Given the description of an element on the screen output the (x, y) to click on. 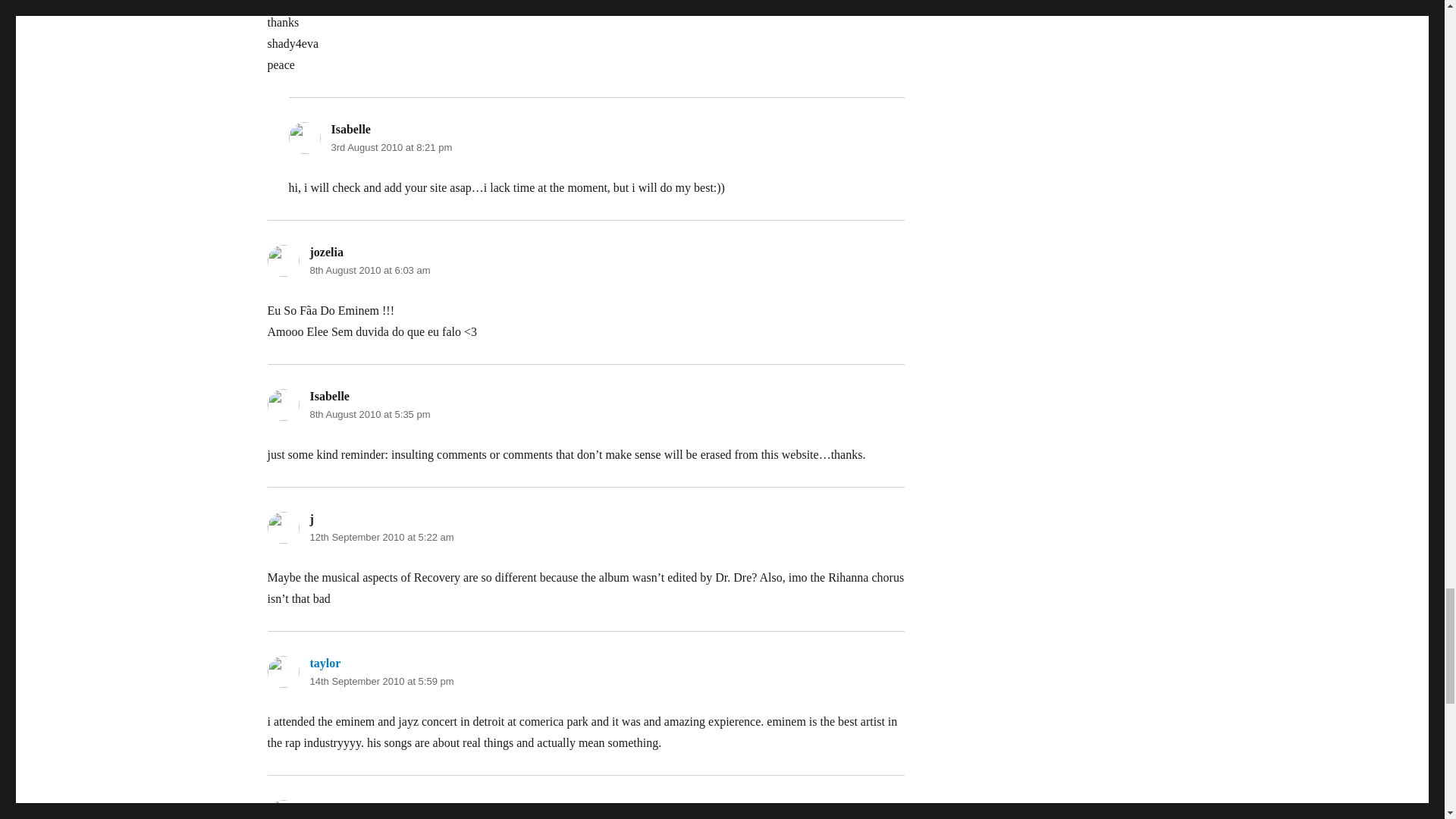
taylor (324, 662)
14th September 2010 at 5:59 pm (380, 681)
3rd August 2010 at 8:21 pm (390, 147)
8th August 2010 at 5:35 pm (368, 414)
8th August 2010 at 6:03 am (368, 270)
12th September 2010 at 5:22 am (380, 536)
